Given the description of an element on the screen output the (x, y) to click on. 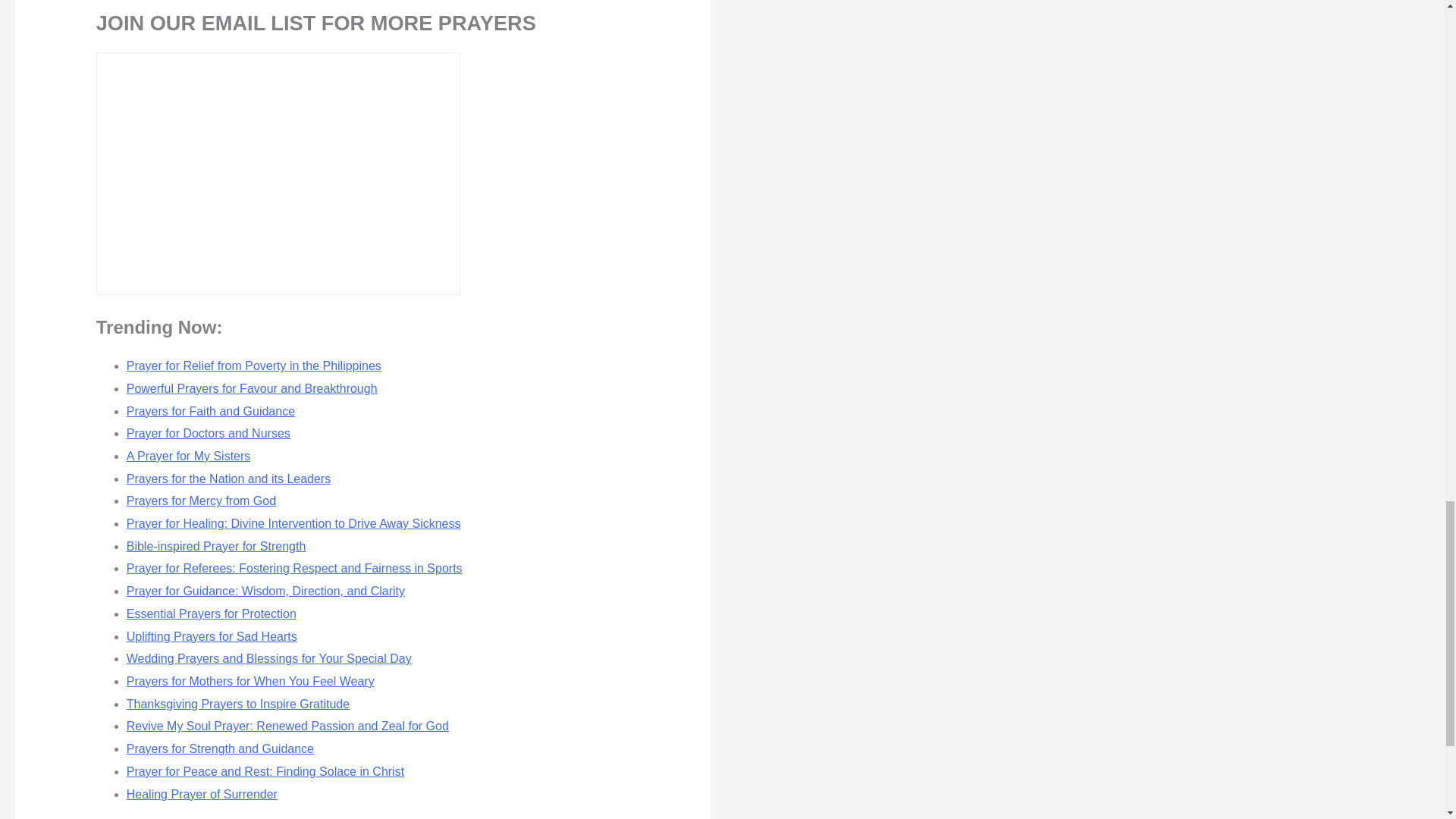
A Prayer for My Sisters (188, 455)
Bible-inspired Prayer for Strength (215, 545)
Prayer for Doctors and Nurses (207, 432)
Prayers for Mercy from God (201, 500)
Prayer for Relief from Poverty in the Philippines (253, 365)
Prayers for the Nation and its Leaders (228, 478)
Prayers for Faith and Guidance (210, 410)
Powerful Prayers for Favour and Breakthrough (251, 388)
Prayer for Guidance: Wisdom, Direction, and Clarity (265, 590)
